Given the description of an element on the screen output the (x, y) to click on. 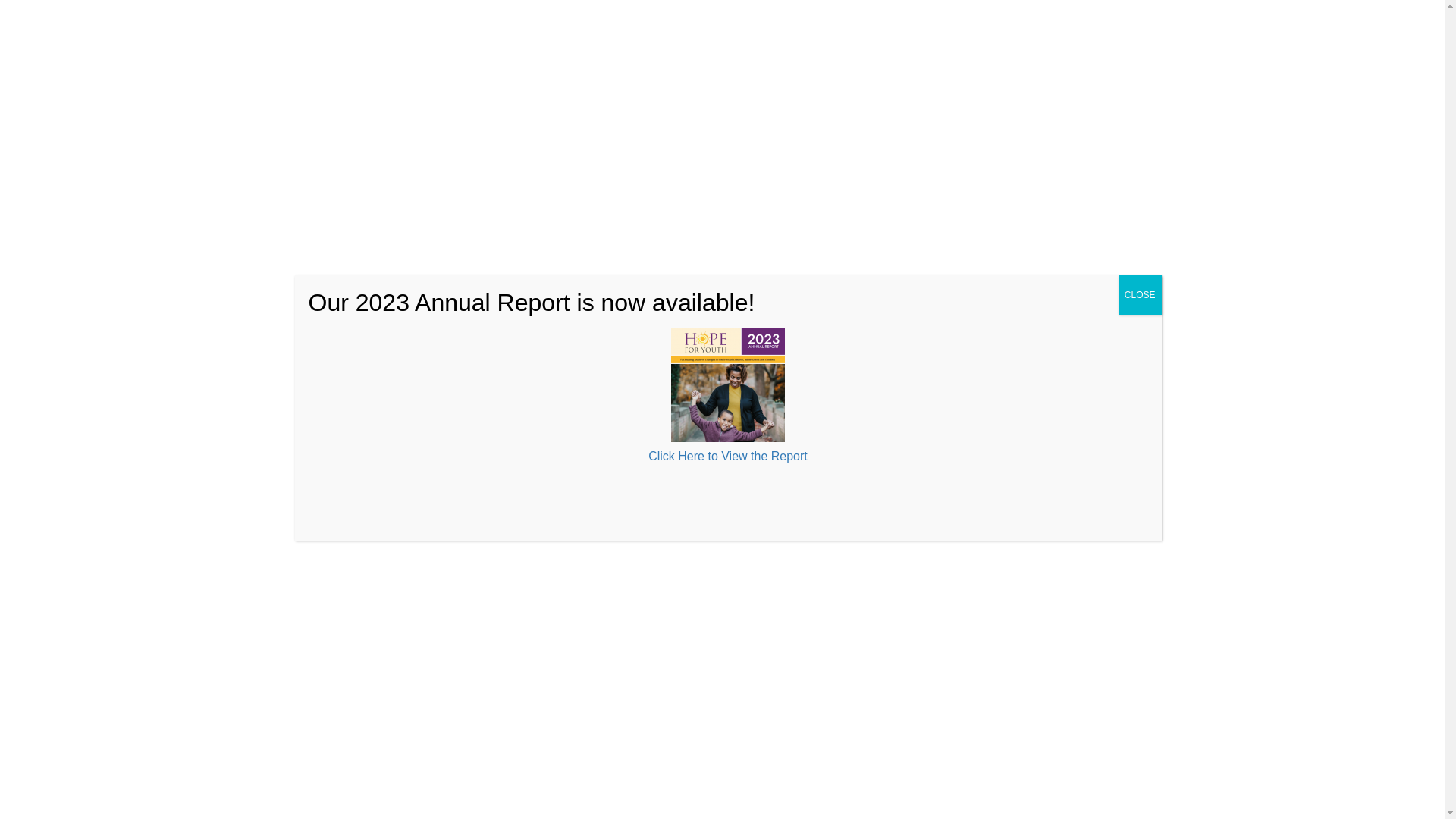
Our Impact (787, 74)
Programs and Services (676, 74)
Programs and Services (676, 74)
Regarding Hope For Youth (536, 74)
Regarding Hope For Youth (536, 74)
